Given the description of an element on the screen output the (x, y) to click on. 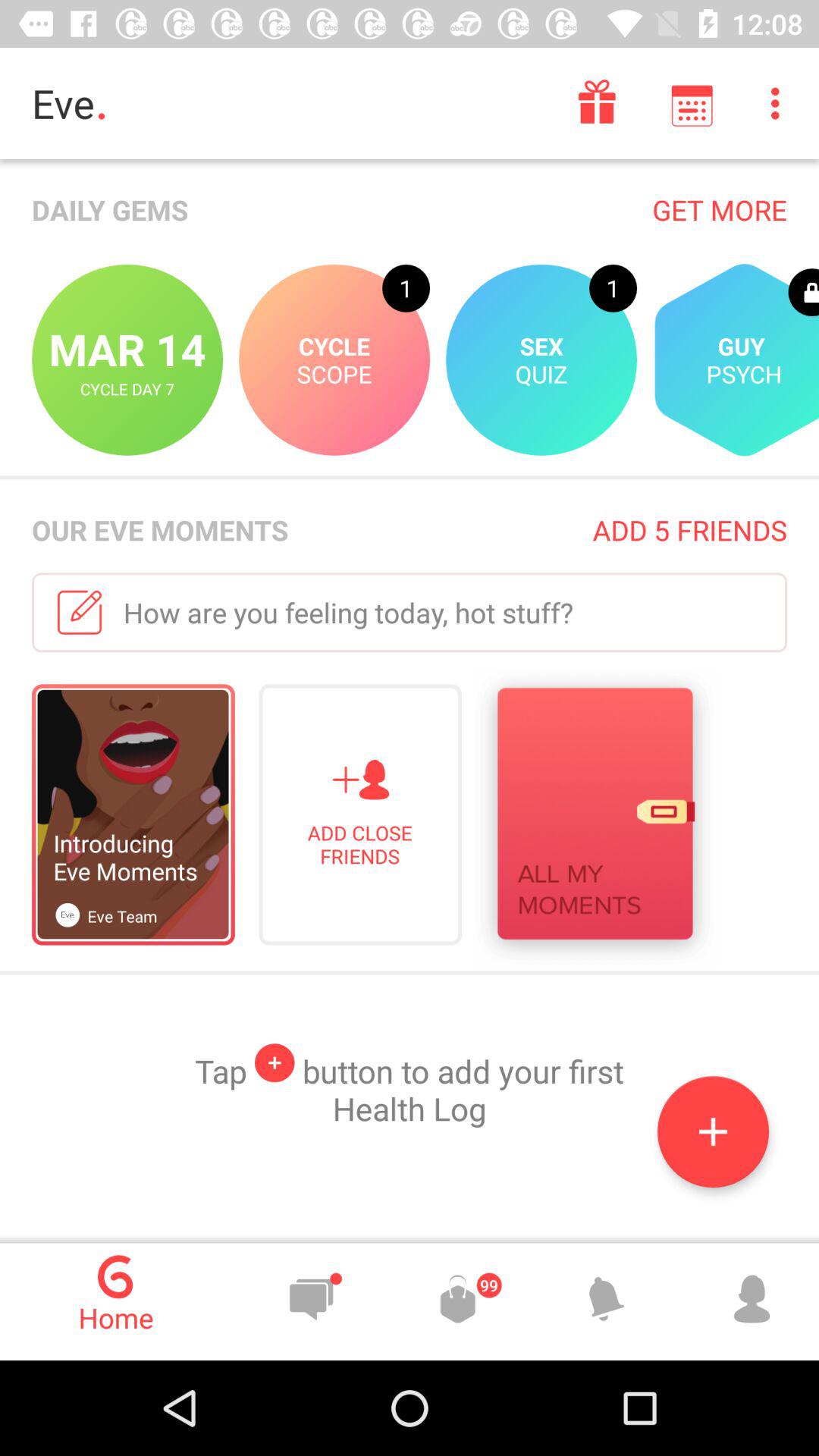
select icon next to daily gems icon (719, 209)
